Given the description of an element on the screen output the (x, y) to click on. 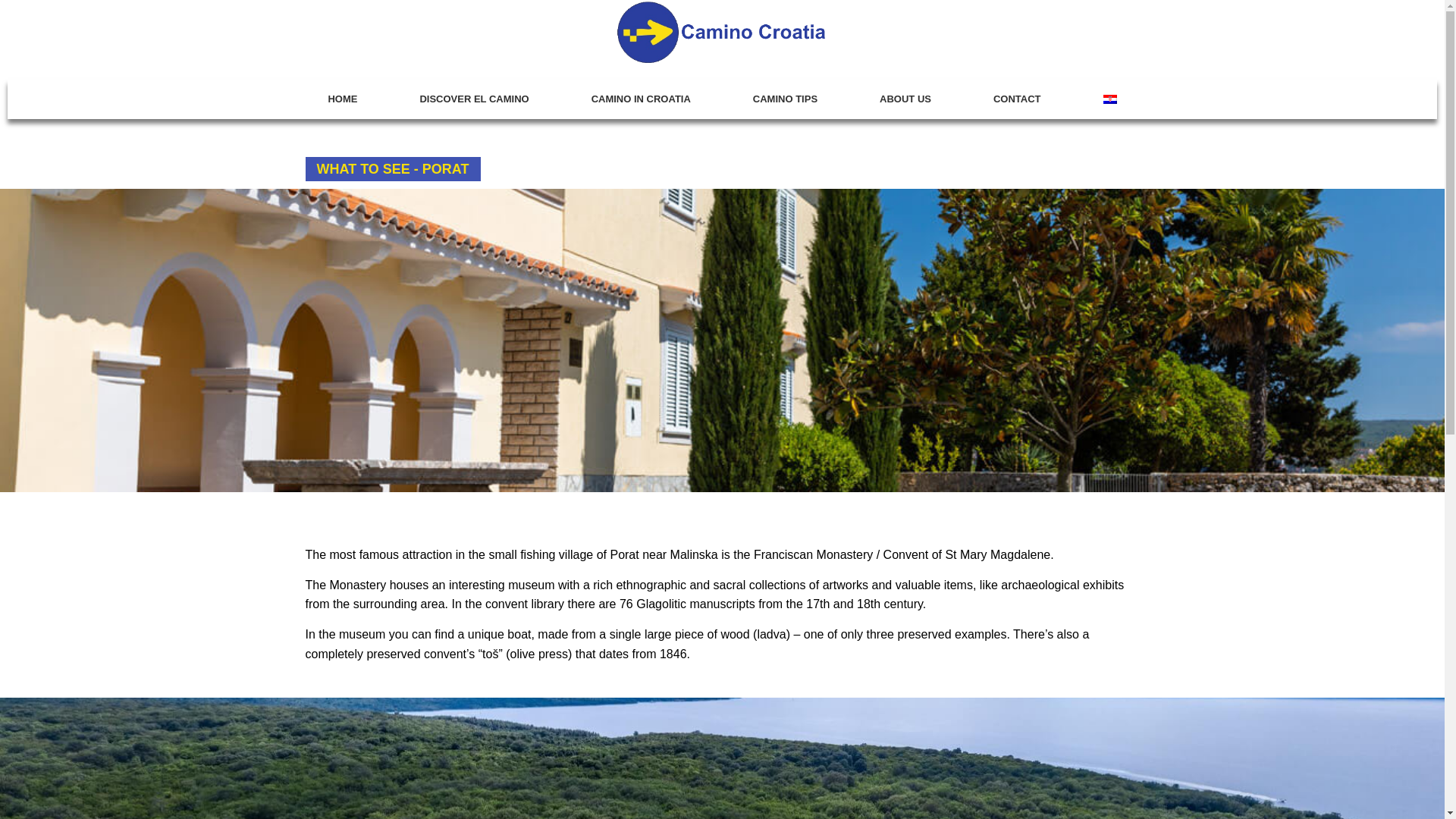
CAMINO TIPS (785, 98)
HOME (342, 98)
DISCOVER EL CAMINO (473, 98)
ABOUT US (905, 98)
CONTACT (1016, 98)
CAMINO IN CROATIA (641, 98)
